Given the description of an element on the screen output the (x, y) to click on. 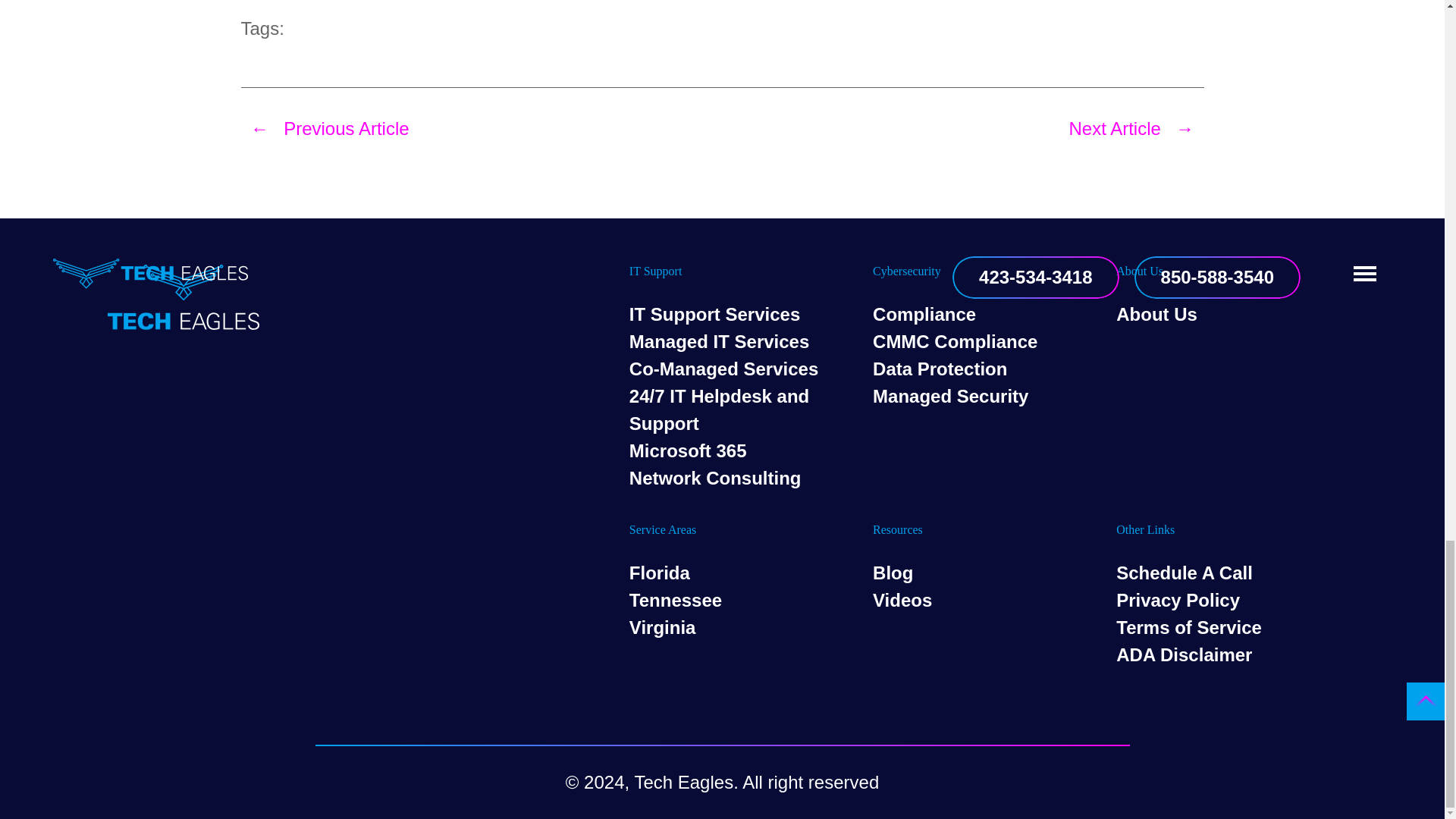
Managed IT Services (718, 341)
IT Support Services (713, 313)
